Given the description of an element on the screen output the (x, y) to click on. 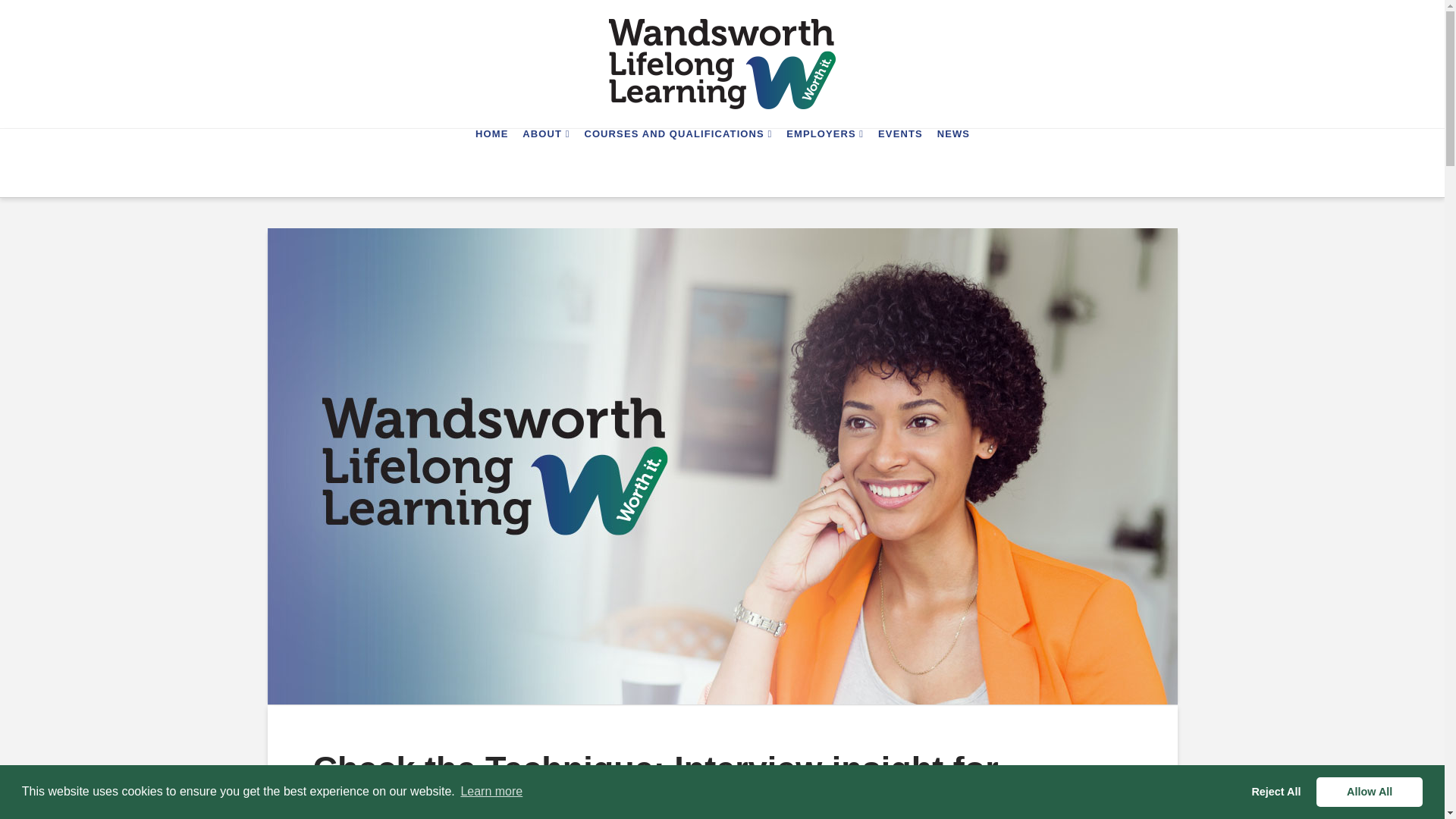
EMPLOYERS (824, 162)
ABOUT (545, 162)
Reject All (1276, 791)
COURSES AND QUALIFICATIONS (677, 162)
Learn more (491, 791)
Allow All (1369, 791)
